Given the description of an element on the screen output the (x, y) to click on. 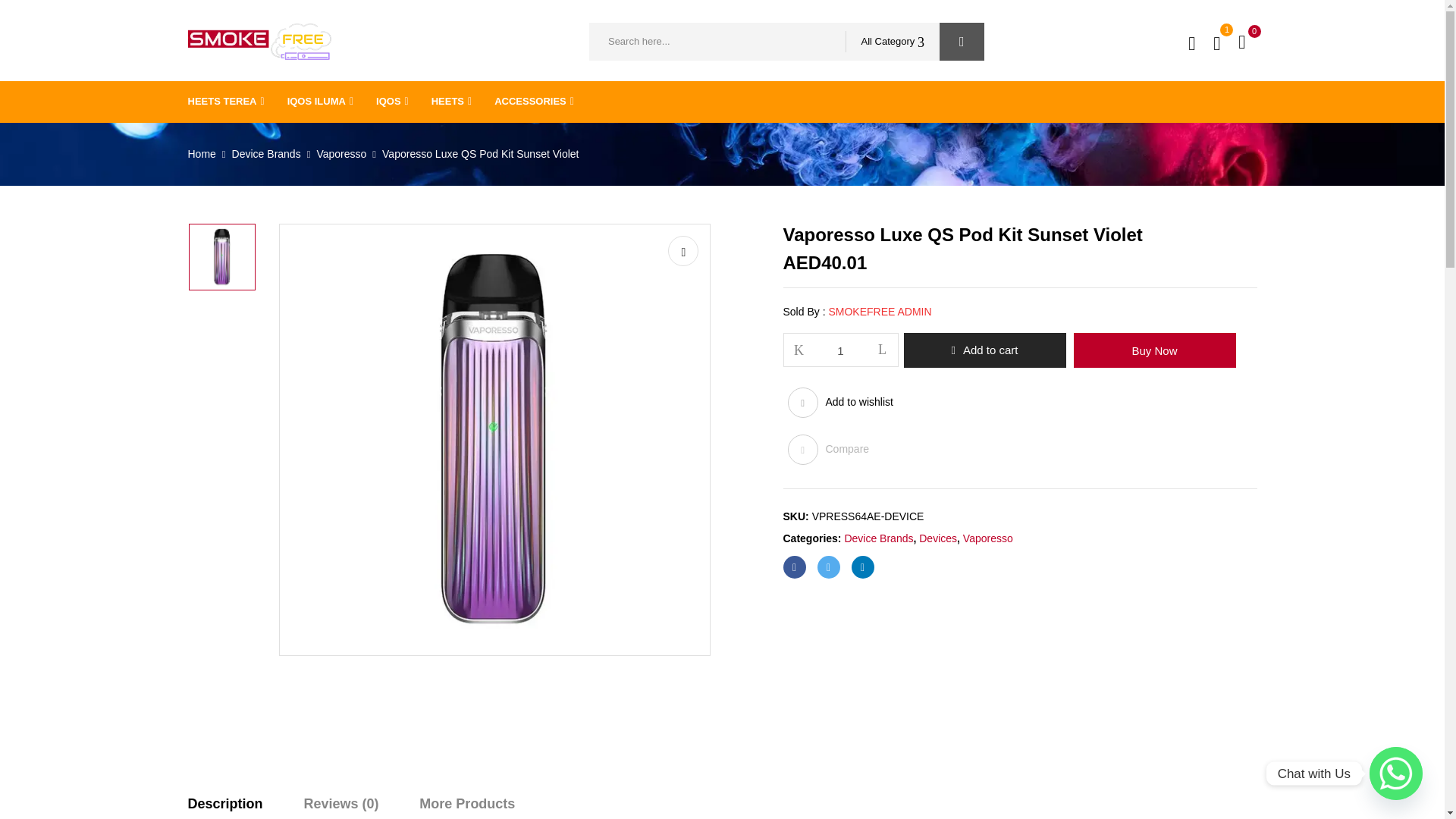
Vaporesso Luxe QS Pod Kit Sunset Violet (221, 256)
LinkedIn (861, 567)
Twitter (828, 567)
1 (841, 350)
Facebook (794, 567)
